Given the description of an element on the screen output the (x, y) to click on. 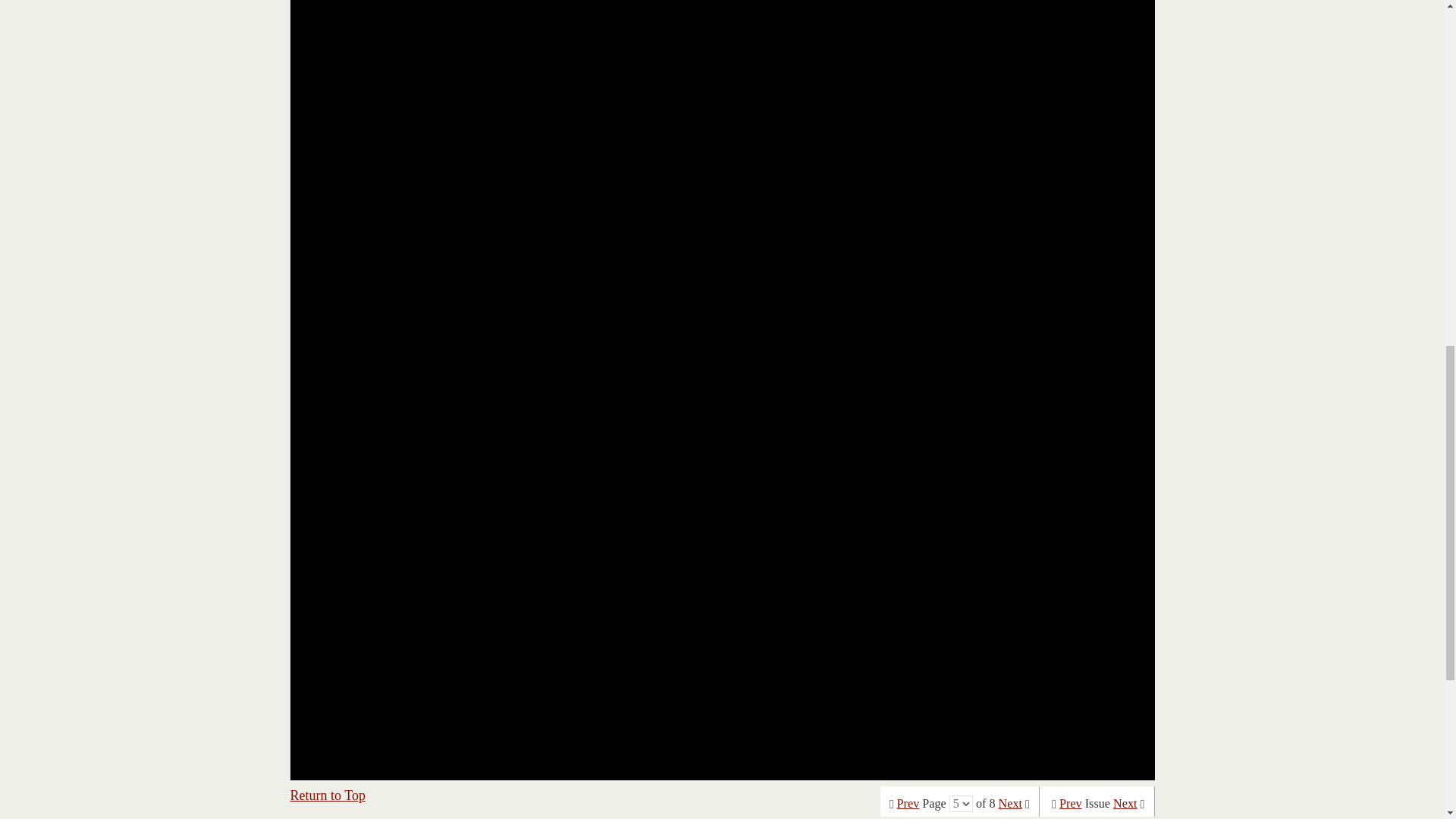
Next (1125, 803)
Prev (1070, 803)
Return to Top (327, 795)
Next (1010, 803)
Prev (908, 803)
